Given the description of an element on the screen output the (x, y) to click on. 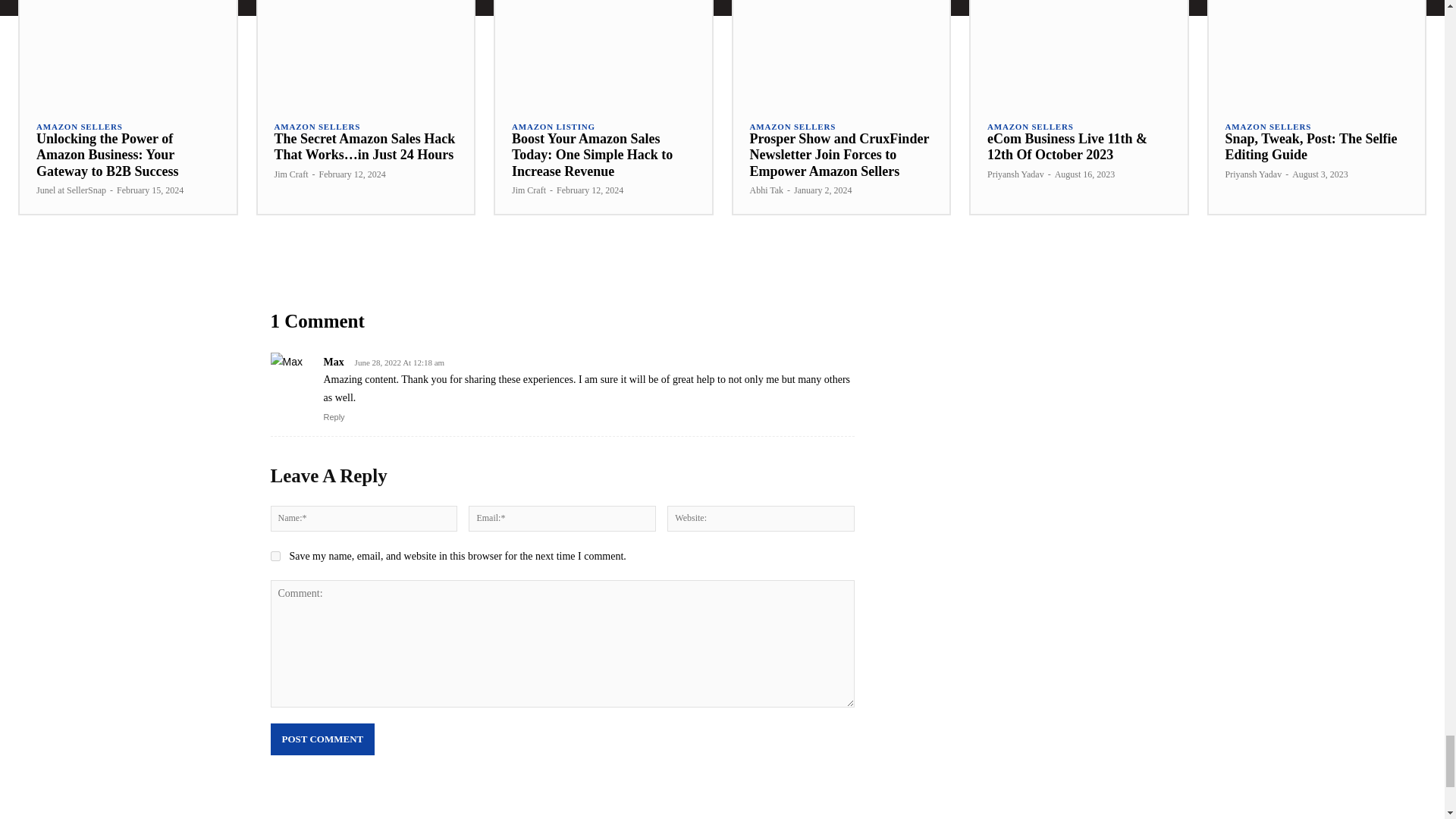
Post Comment (321, 739)
yes (274, 556)
